Given the description of an element on the screen output the (x, y) to click on. 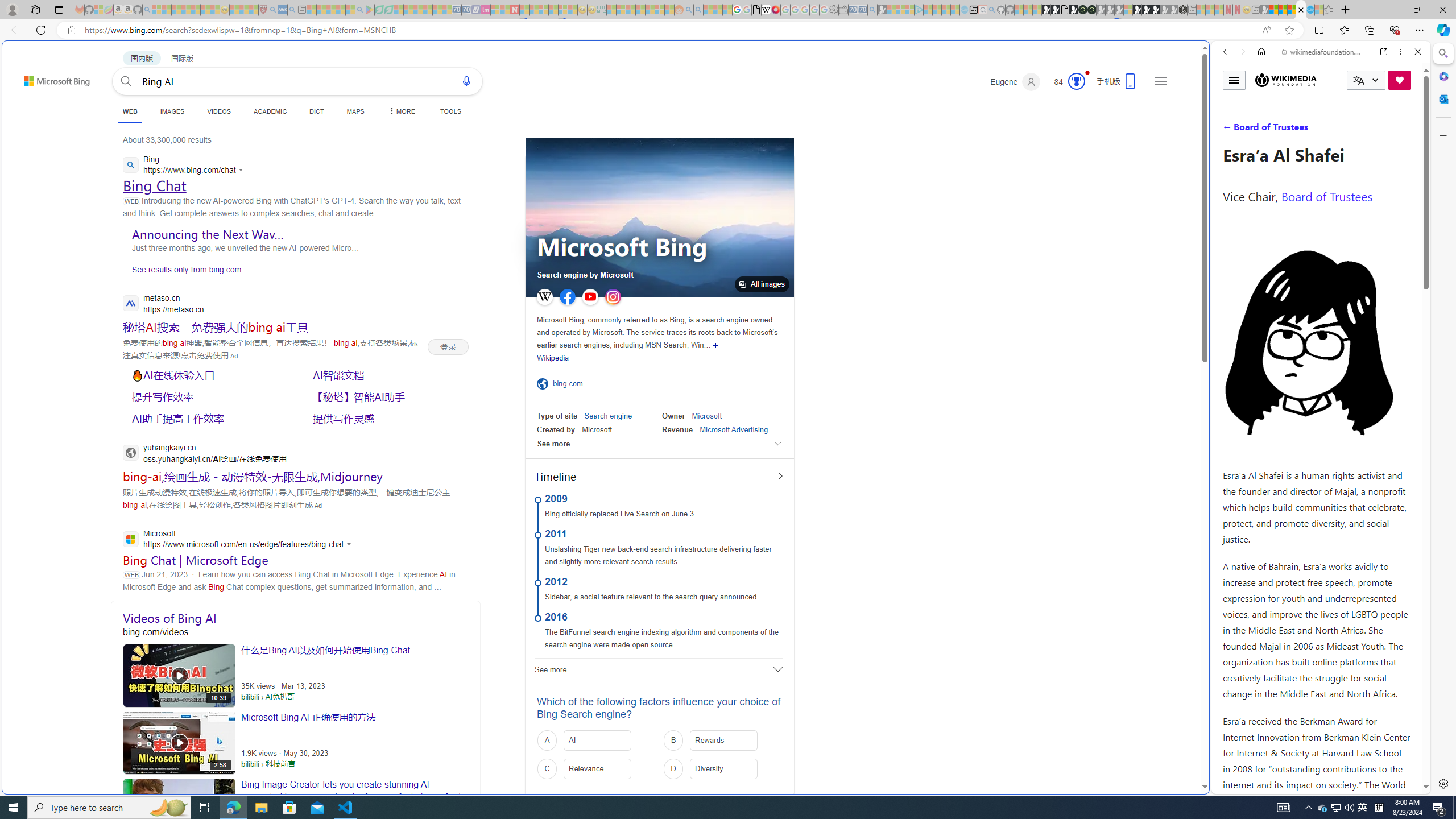
Bing Chat (154, 185)
MSN - Sleeping (1264, 9)
Microsoft Advertising (733, 429)
Wikimedia Foundation (1285, 79)
Animation (1086, 72)
Facebook (567, 296)
Eugene (1015, 81)
Videos of Bing AI (295, 617)
google_privacy_policy_zh-CN.pdf (1118, 683)
